Given the description of an element on the screen output the (x, y) to click on. 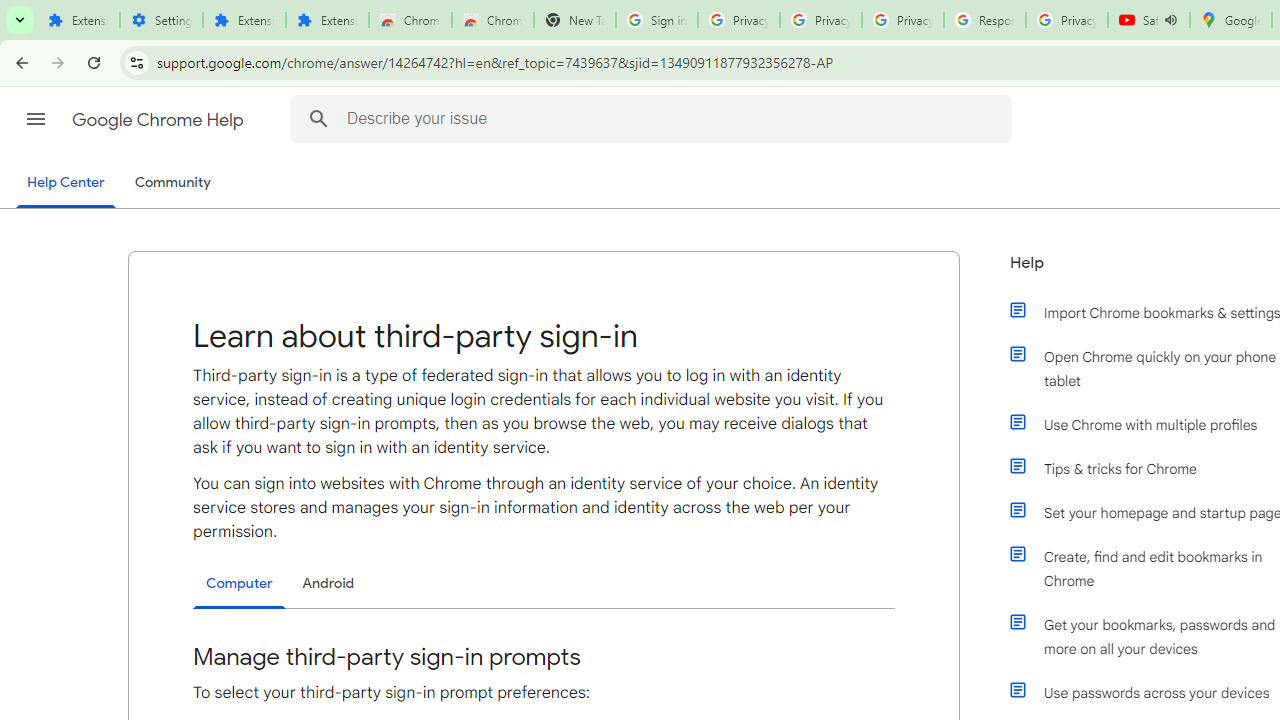
Community (171, 183)
Android (328, 583)
Chrome Web Store - Themes (492, 20)
Settings (161, 20)
Search Help Center (318, 118)
Extensions (326, 20)
Extensions (244, 20)
Sign in - Google Accounts (656, 20)
Computer (239, 584)
